Given the description of an element on the screen output the (x, y) to click on. 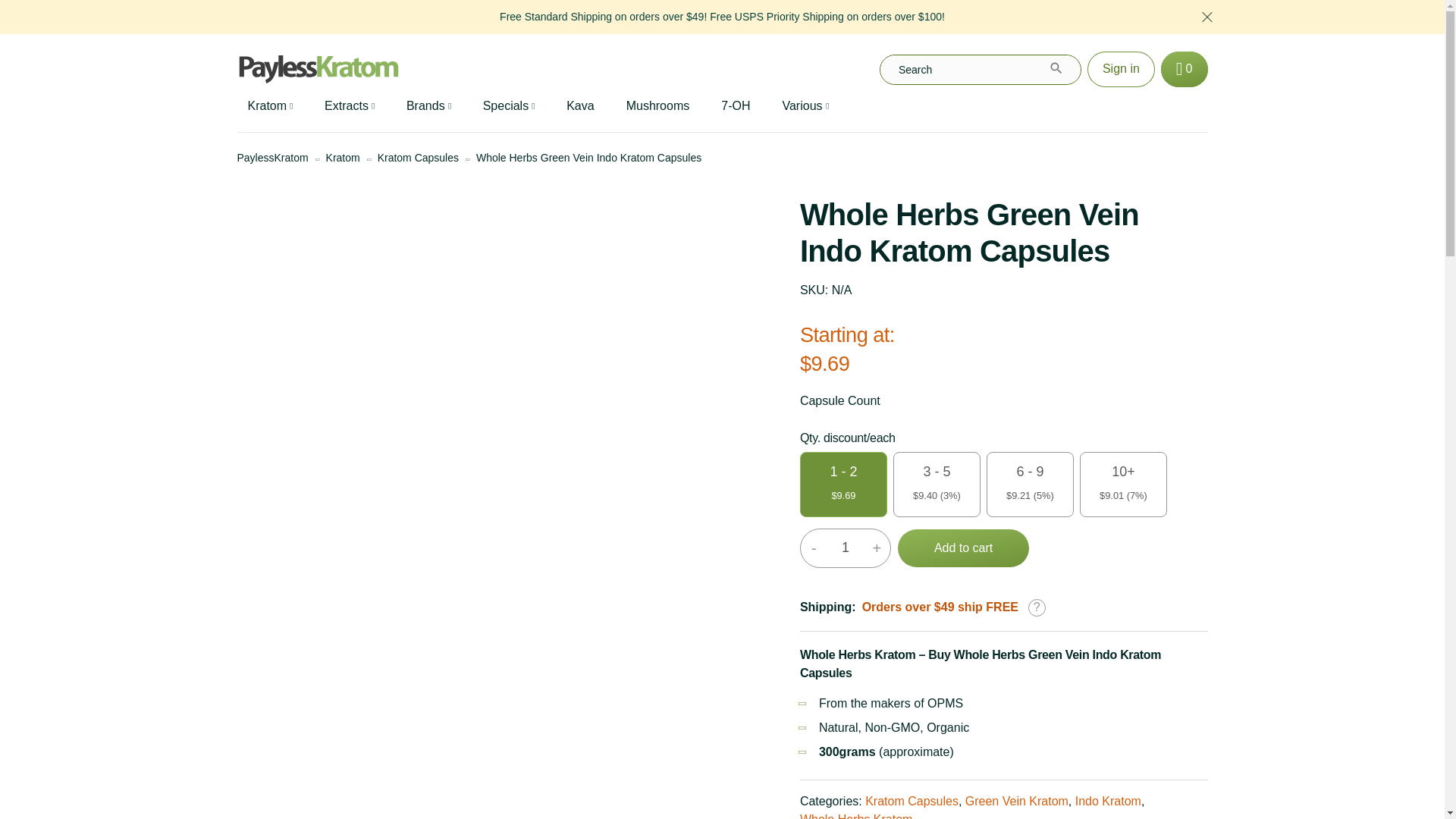
Qty (845, 547)
Sign in (1120, 68)
0 (1184, 68)
1 (845, 547)
Extracts (349, 105)
Brands (428, 105)
Kratom (268, 105)
